Given the description of an element on the screen output the (x, y) to click on. 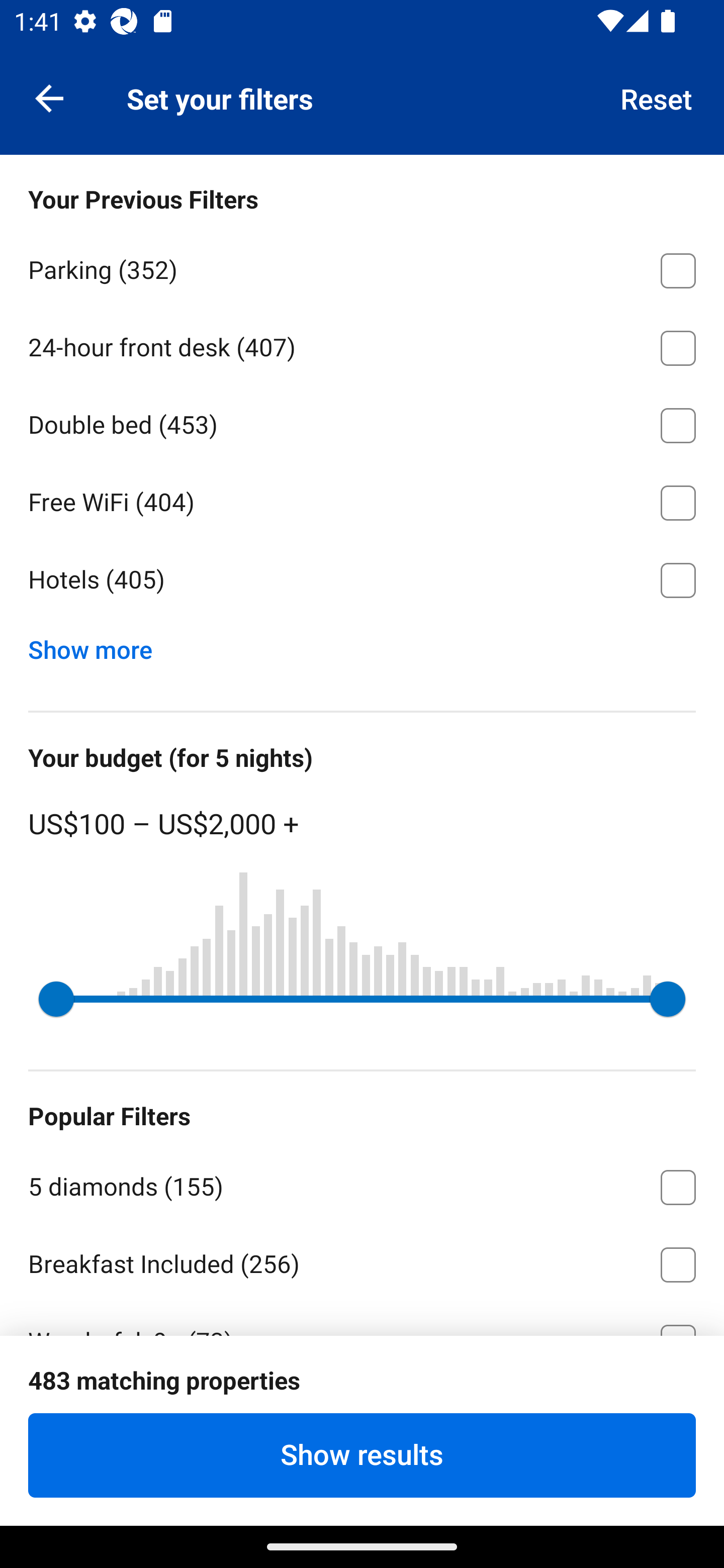
Navigate up (49, 97)
Reset (656, 97)
Parking ⁦(352) (361, 266)
24-hour front desk ⁦(407) (361, 344)
Double bed ⁦(453) (361, 422)
Free WiFi ⁦(404) (361, 498)
Hotels ⁦(405) (361, 579)
Show more (97, 645)
5 diamonds ⁦(155) (361, 1183)
Breakfast Included ⁦(256) (361, 1261)
Show results (361, 1454)
